Given the description of an element on the screen output the (x, y) to click on. 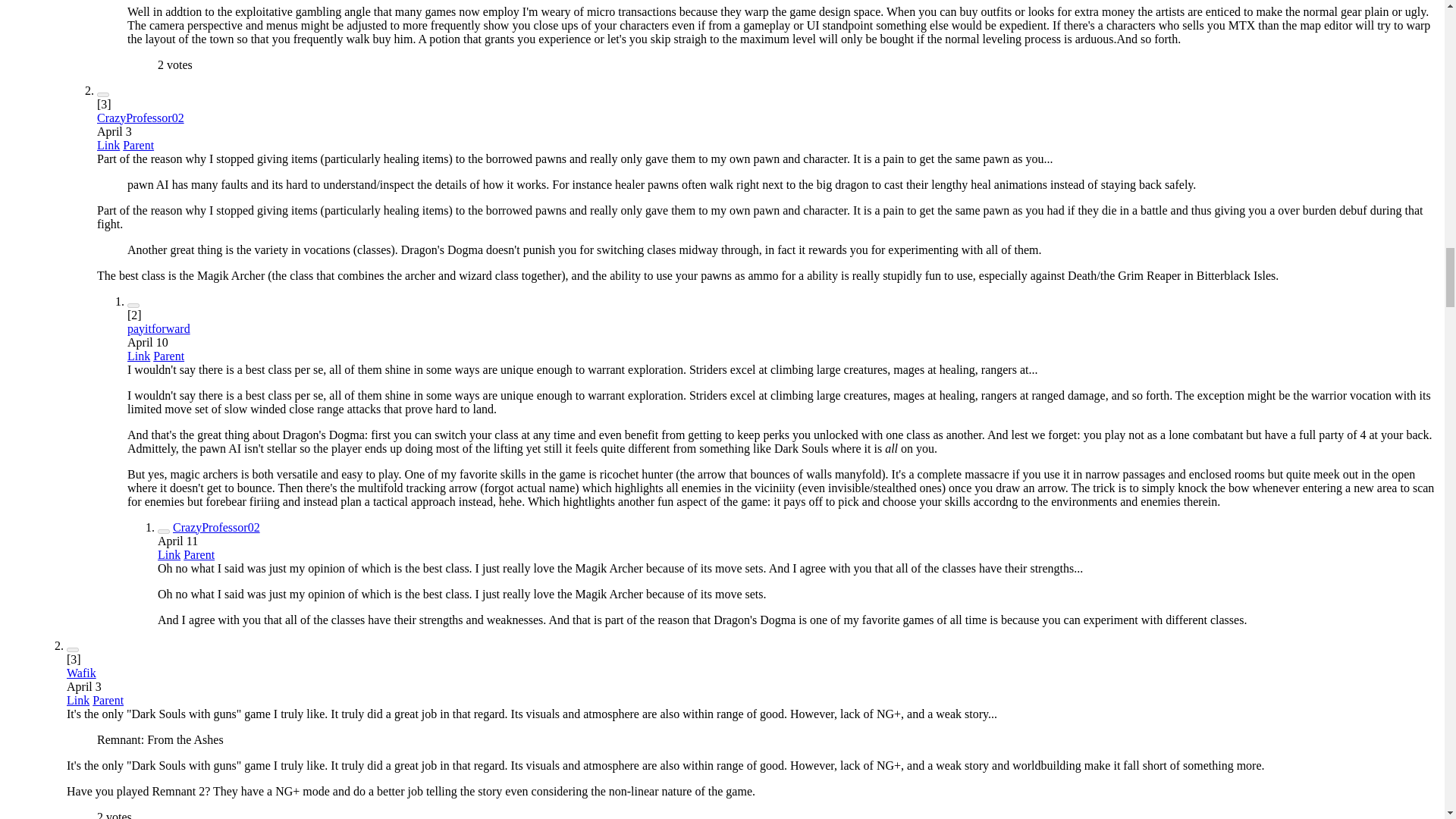
2024-04-03 02:24:09 UTC (83, 686)
2024-04-11 00:22:21 UTC (177, 540)
2024-04-03 20:19:01 UTC (114, 131)
2024-04-10 23:30:31 UTC (148, 341)
